Given the description of an element on the screen output the (x, y) to click on. 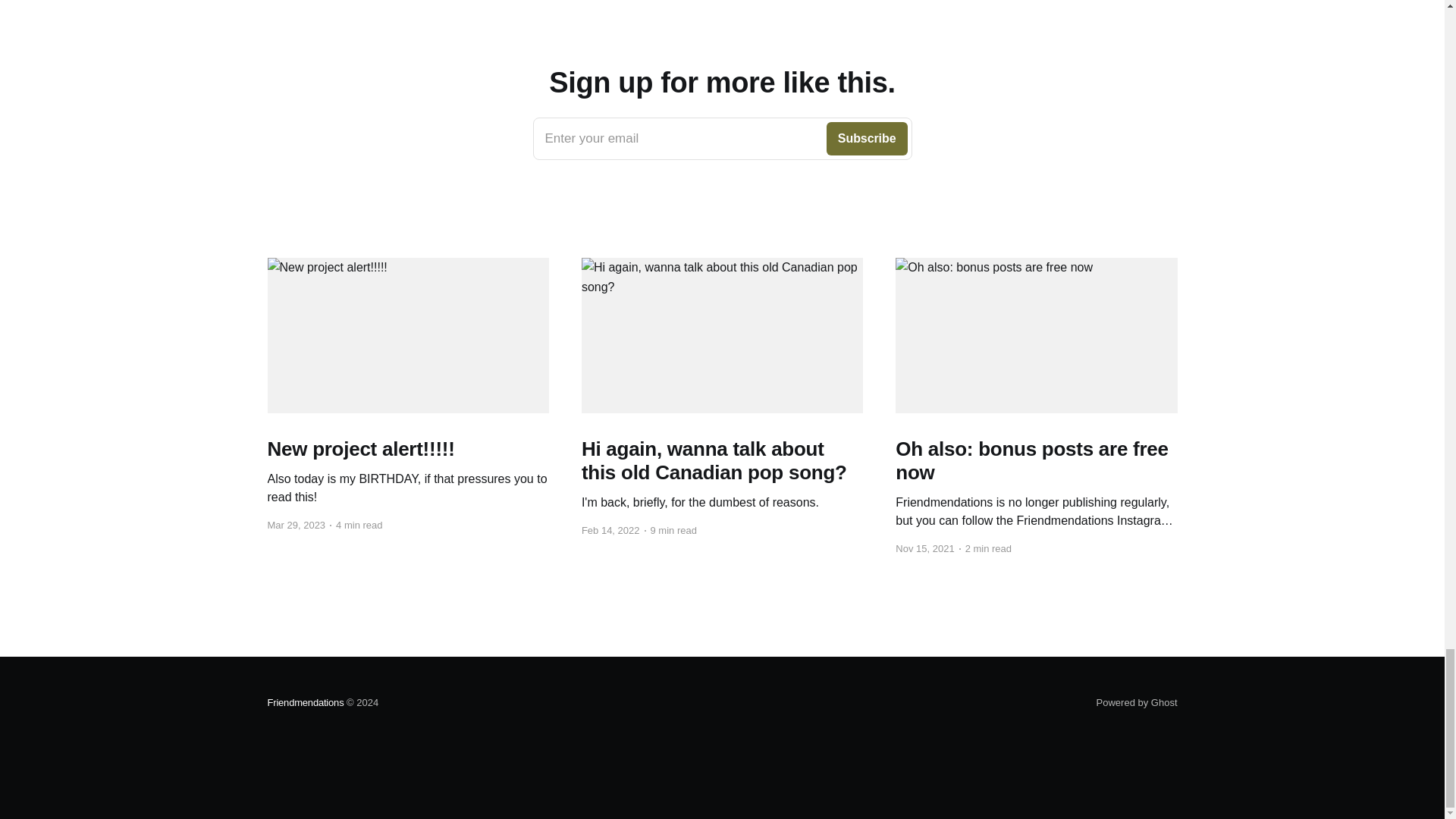
Friendmendations (304, 702)
Powered by Ghost (721, 138)
